Given the description of an element on the screen output the (x, y) to click on. 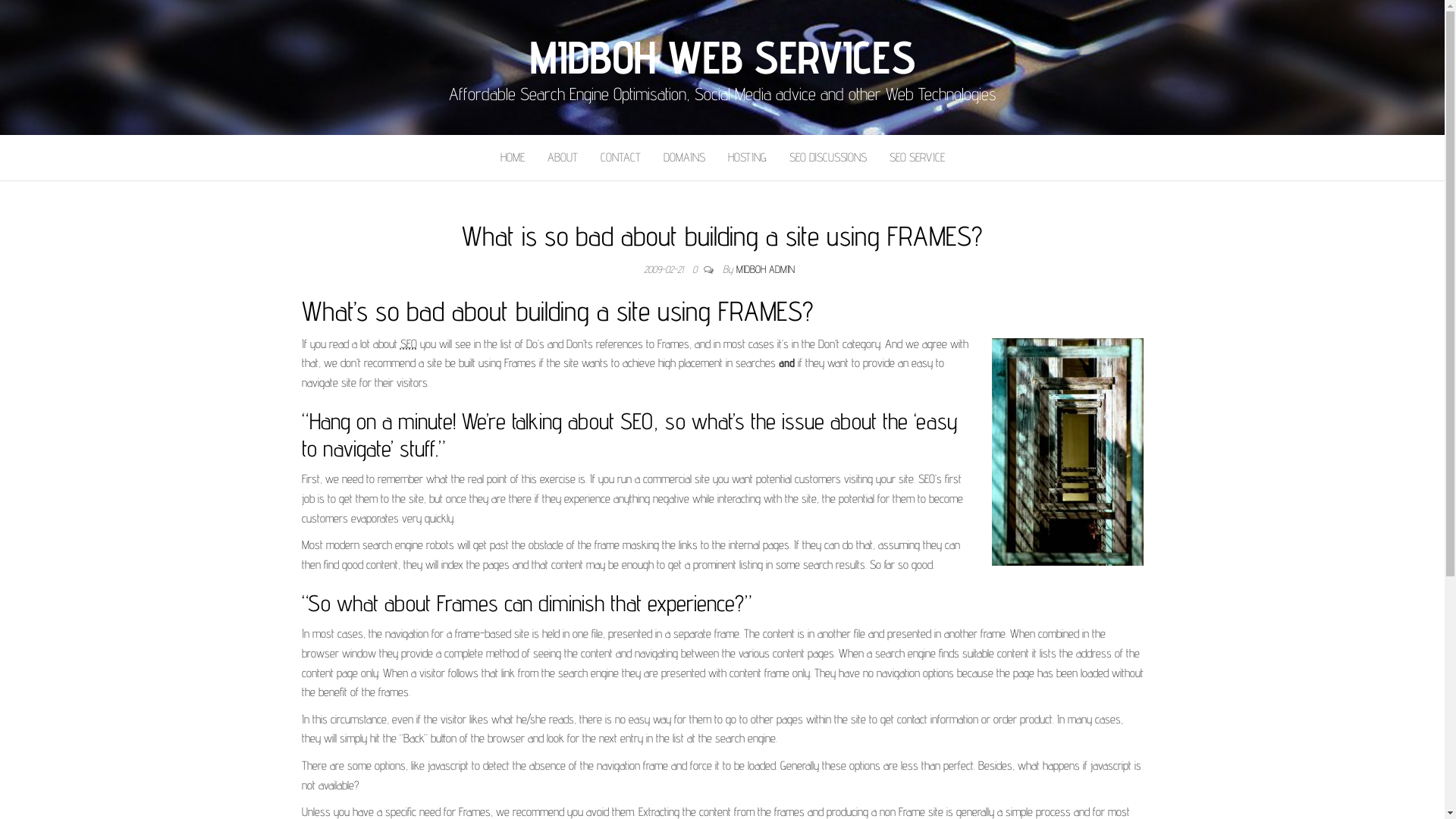
CONTACT Element type: text (619, 157)
HOSTING Element type: text (746, 157)
DOMAINS Element type: text (684, 157)
HOME Element type: text (511, 157)
MIDBOH ADMIN Element type: text (765, 269)
ABOUT Element type: text (561, 157)
0 Element type: text (697, 269)
MIDBOH WEB SERVICES Element type: text (721, 56)
SEO SERVICE Element type: text (917, 157)
SEO DISCUSSIONS Element type: text (828, 157)
